Given the description of an element on the screen output the (x, y) to click on. 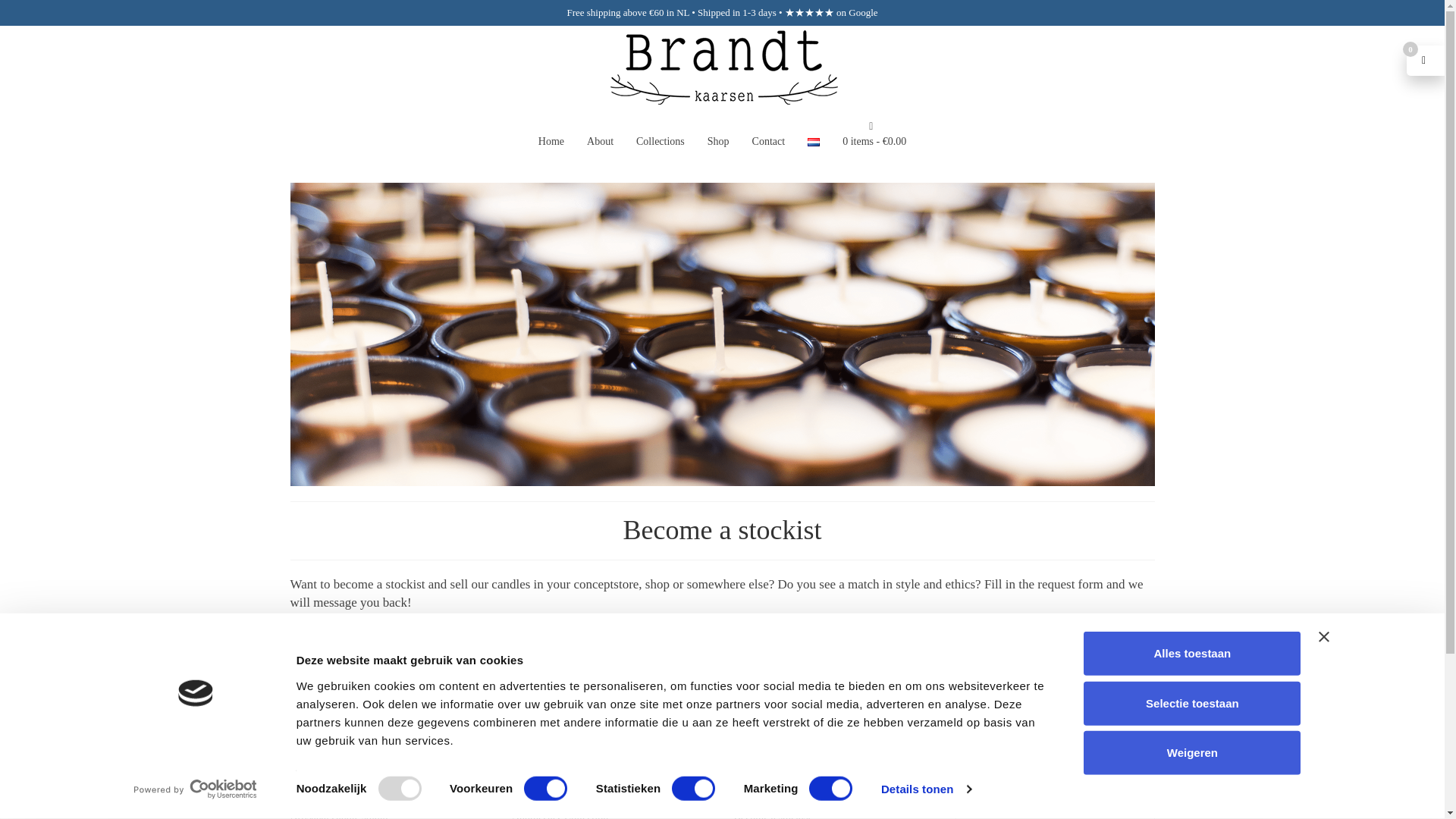
Details tonen (925, 789)
Collections (659, 141)
About (599, 141)
Alles toestaan (1191, 653)
Selectie toestaan (1191, 702)
Weigeren (1191, 752)
Start shopping (874, 134)
Home (551, 141)
